Given the description of an element on the screen output the (x, y) to click on. 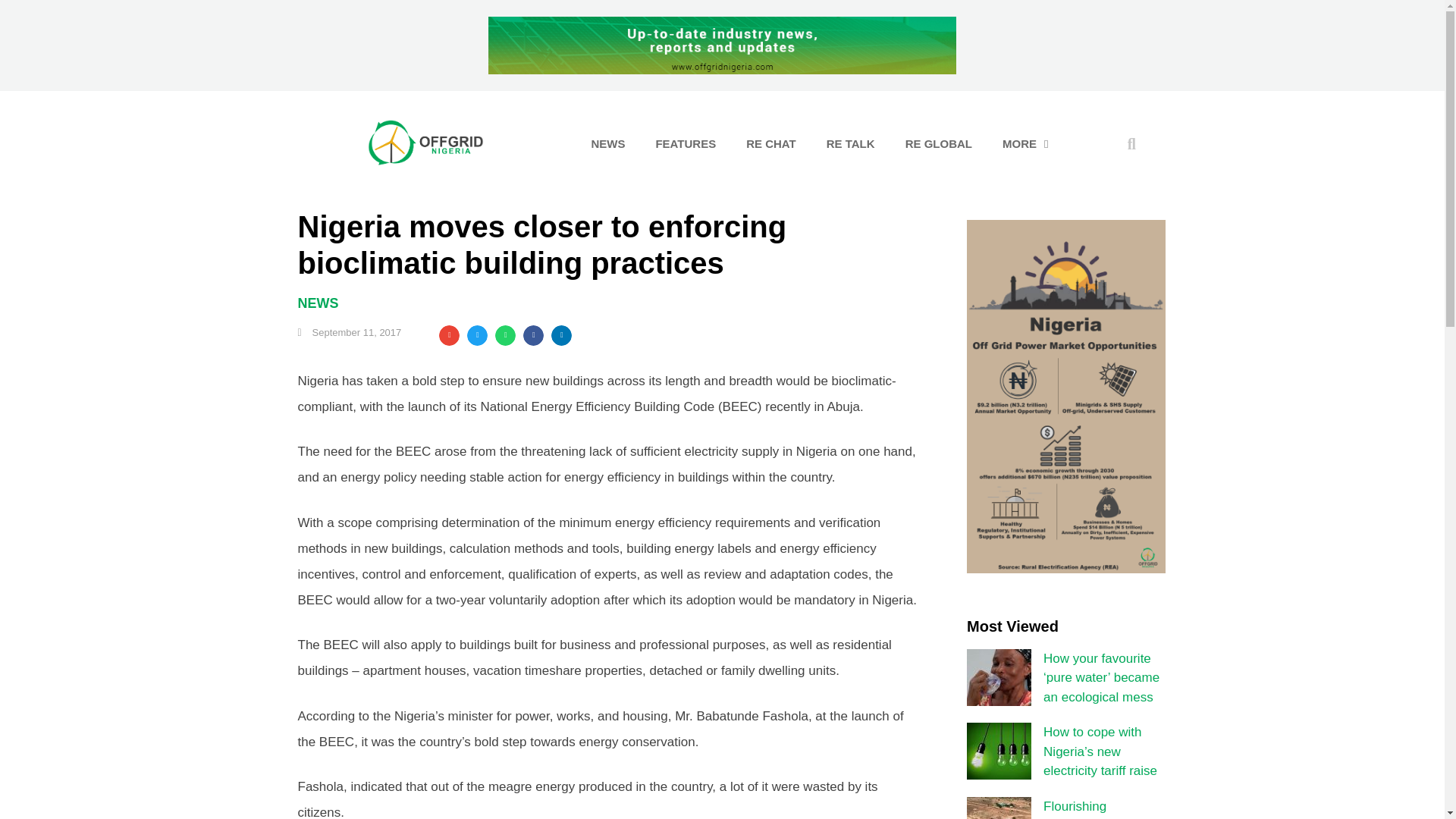
NEWS (317, 303)
RE TALK (849, 143)
MORE (1024, 143)
September 11, 2017 (349, 332)
RE CHAT (770, 143)
RE GLOBAL (938, 143)
FEATURES (685, 143)
NEWS (607, 143)
